Given the description of an element on the screen output the (x, y) to click on. 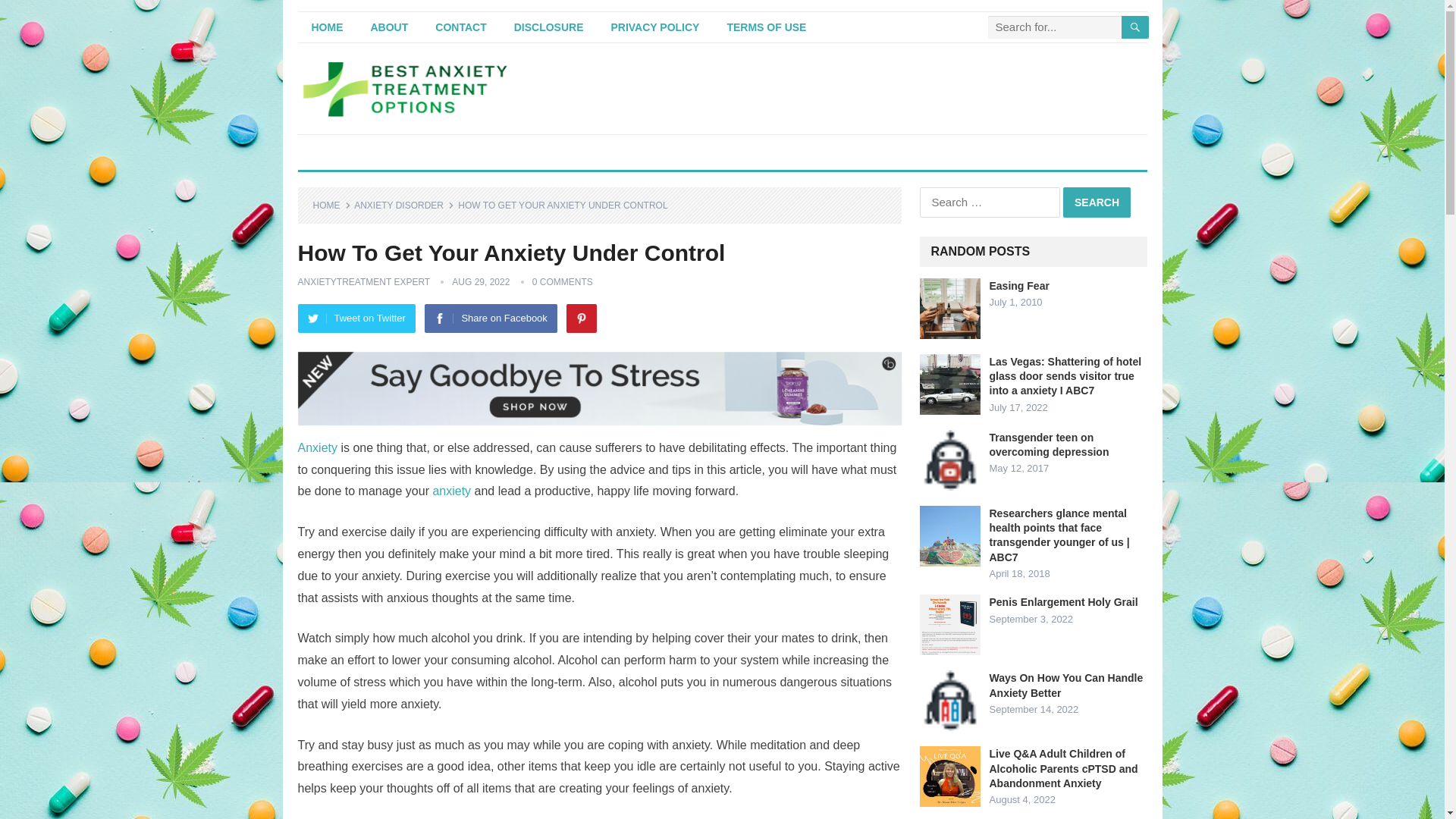
Pinterest (581, 317)
Anxiety (316, 447)
TERMS OF USE (766, 27)
View all posts in Anxiety Disorder (403, 204)
Posts tagged with anxiety (451, 490)
PRIVACY POLICY (654, 27)
HOME (326, 27)
HOME (331, 204)
ANXIETYTREATMENT EXPERT (363, 281)
0 COMMENTS (562, 281)
anxiety (451, 490)
Posts tagged with anxiety (316, 447)
Search (1096, 202)
ABOUT (389, 27)
Tweet on Twitter (355, 317)
